Given the description of an element on the screen output the (x, y) to click on. 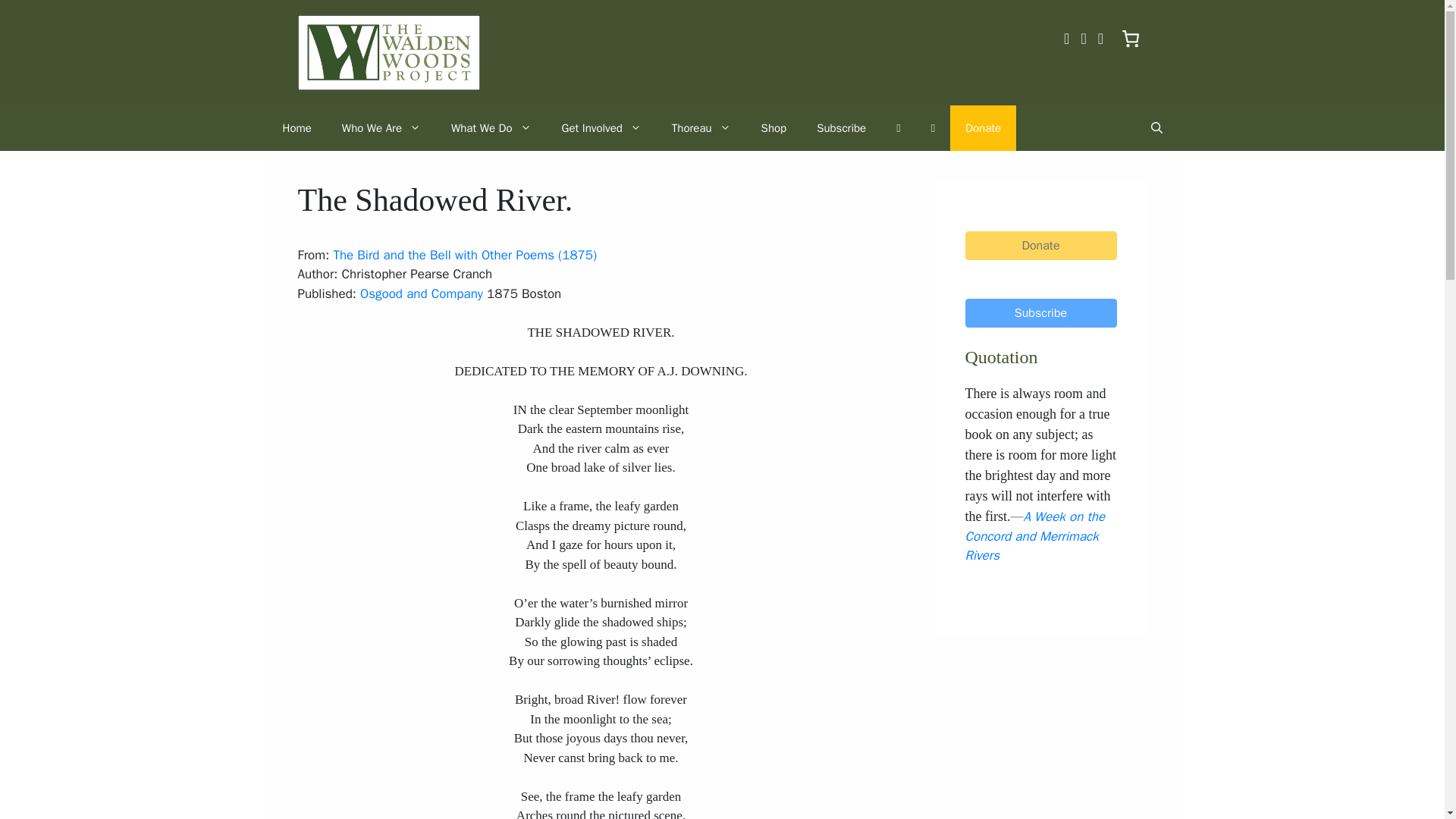
Home (296, 127)
Who We Are (380, 127)
What We Do (491, 127)
Donate through Network for Good (983, 127)
Subscribe to our mailing list (841, 127)
